Given the description of an element on the screen output the (x, y) to click on. 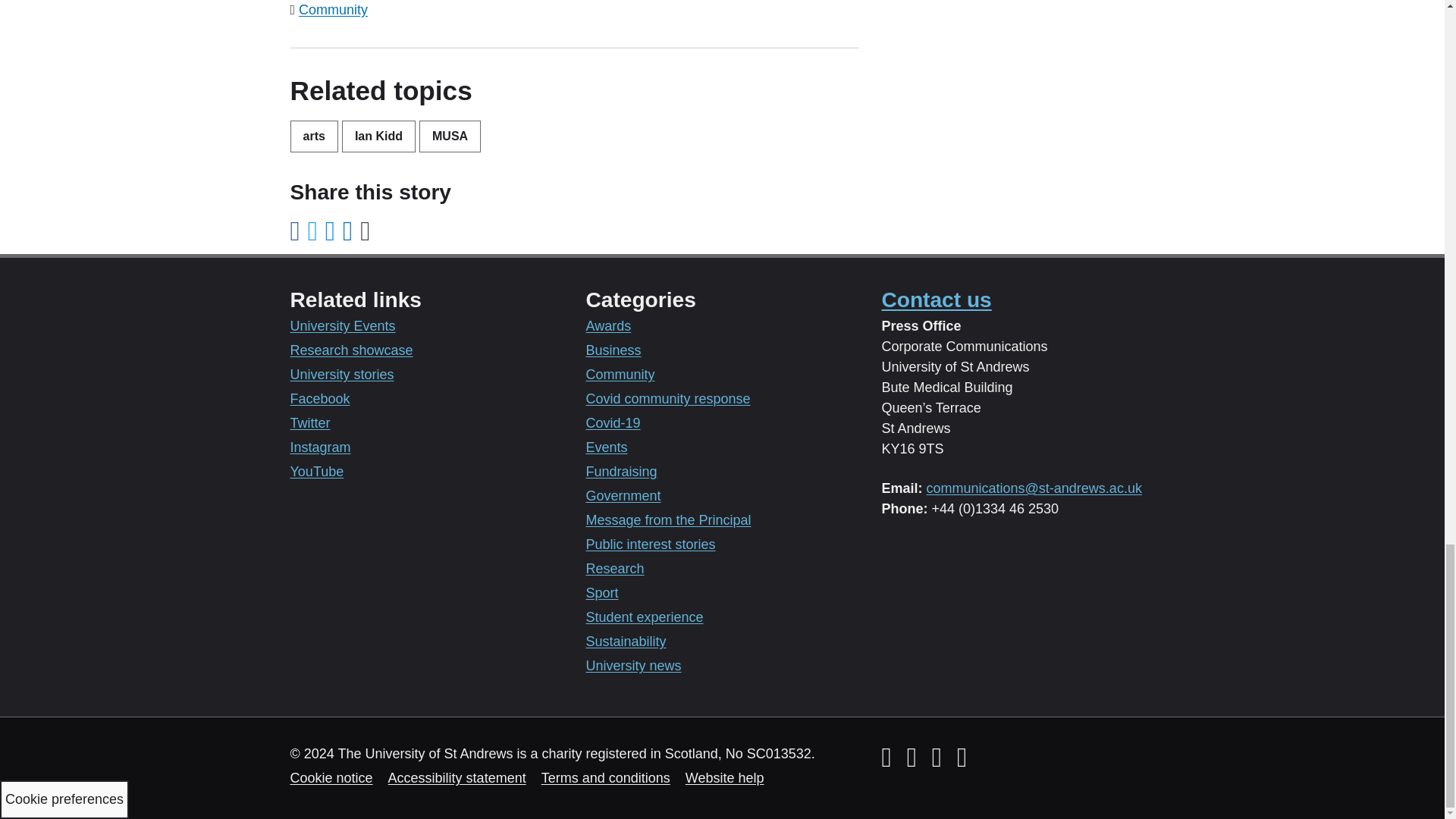
Community (333, 9)
Ian Kidd (378, 136)
MUSA (449, 136)
arts (313, 136)
